Given the description of an element on the screen output the (x, y) to click on. 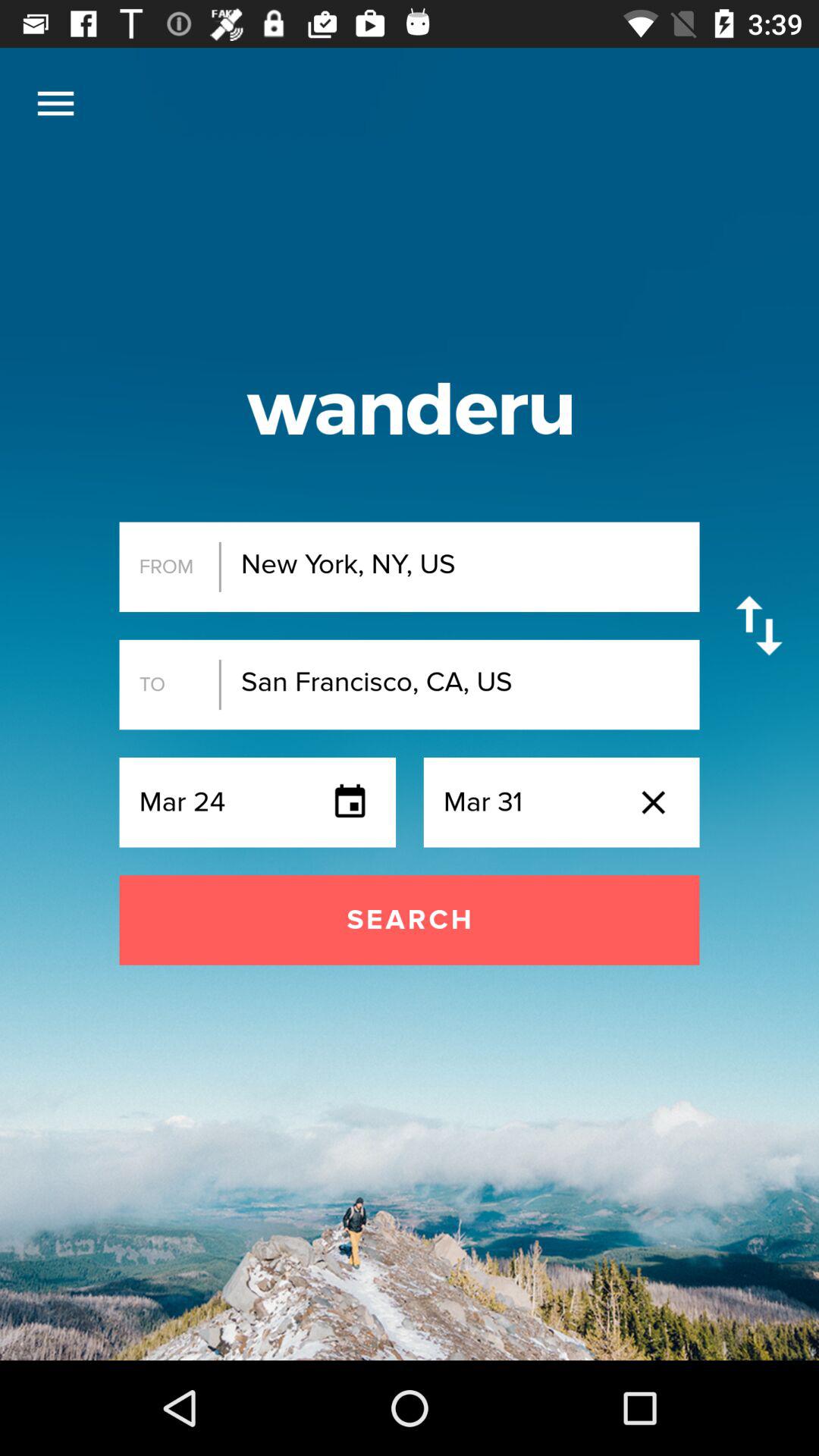
see menu (55, 103)
